Given the description of an element on the screen output the (x, y) to click on. 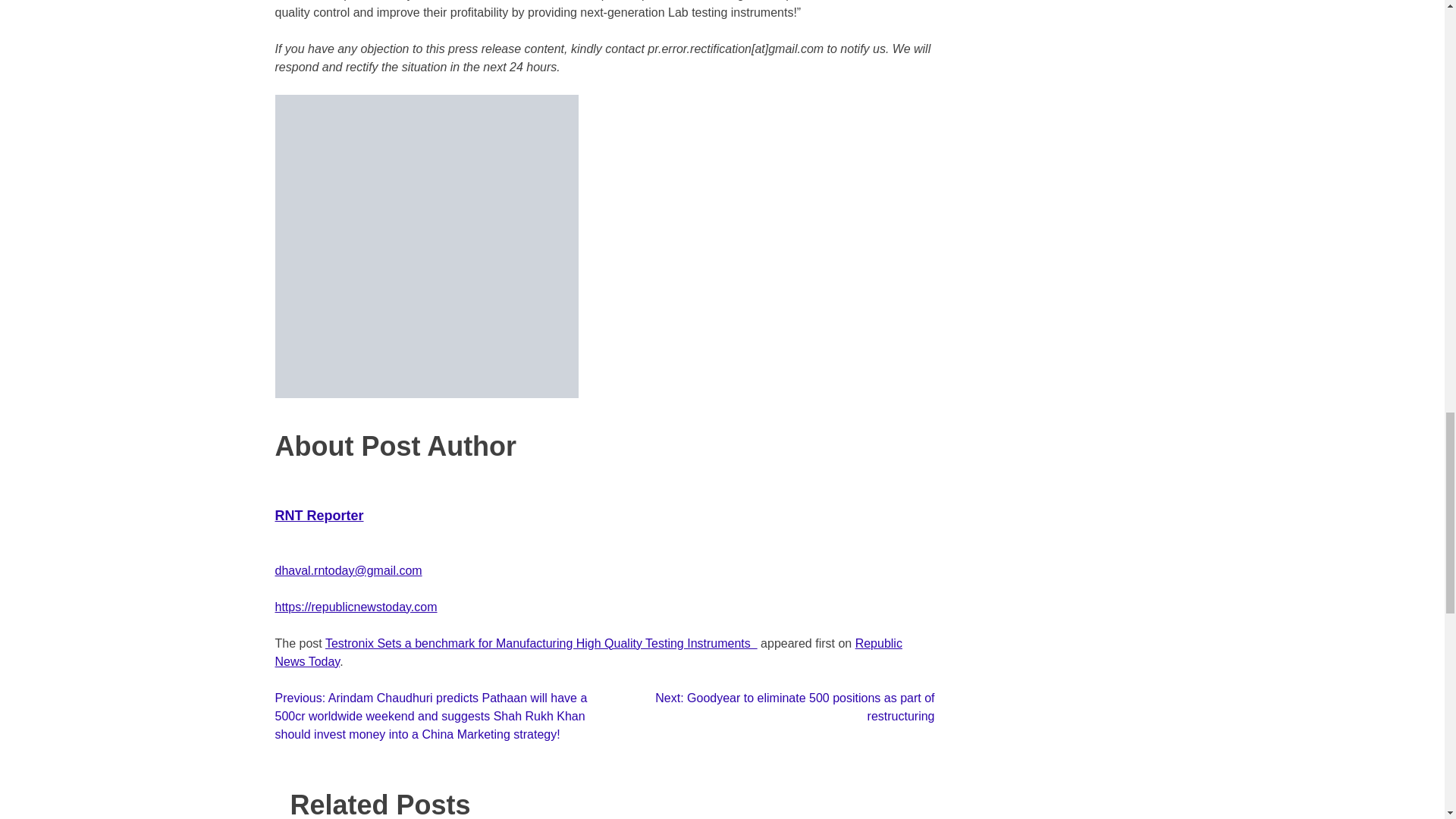
Republic News Today (588, 652)
RNT Reporter (318, 523)
